Given the description of an element on the screen output the (x, y) to click on. 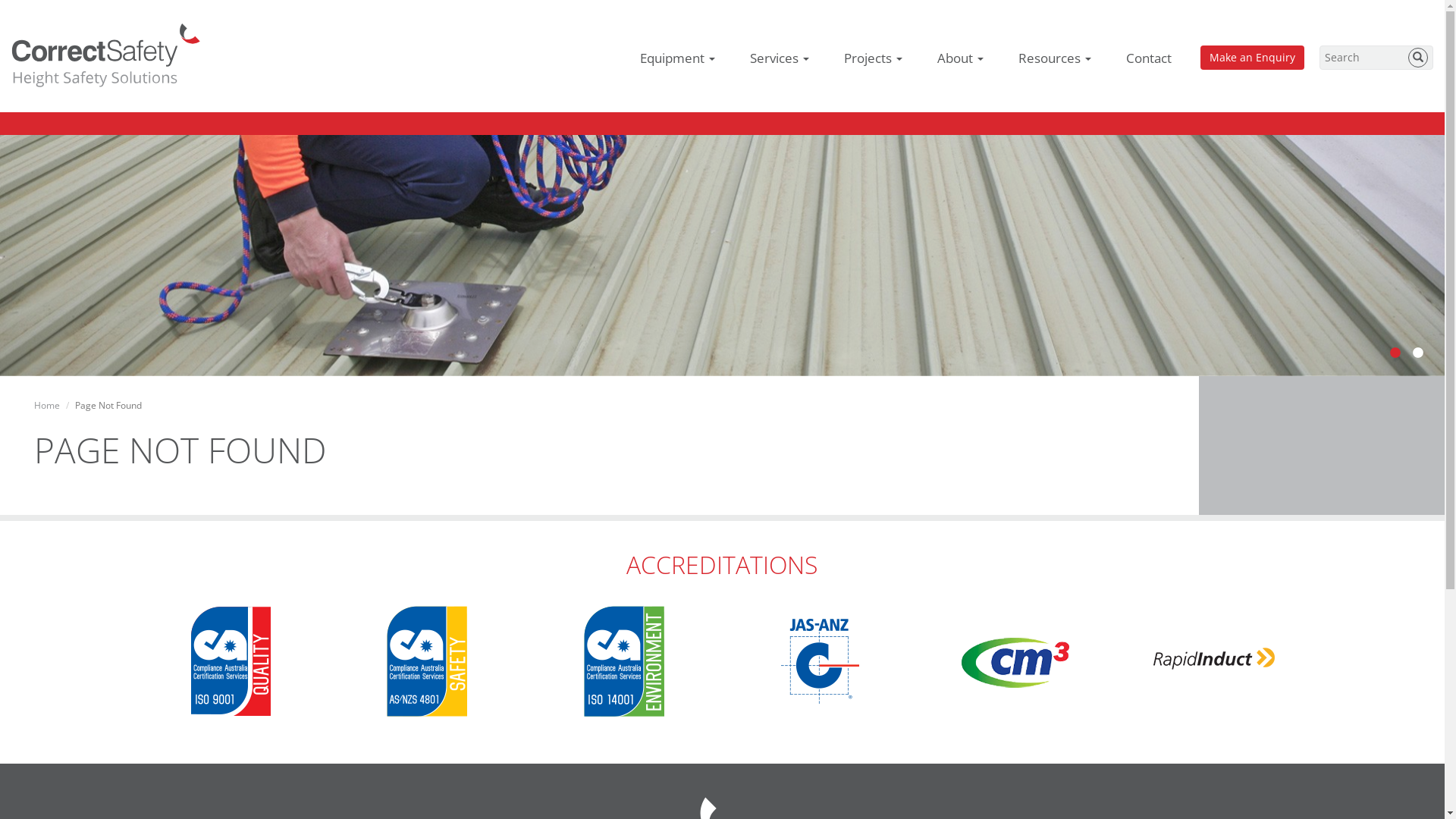
Contact Element type: text (1148, 58)
Resources Element type: text (1054, 58)
Projects Element type: text (872, 58)
1 Element type: text (1394, 352)
2 Element type: text (1417, 352)
Equipment Element type: text (677, 58)
Make an Enquiry Element type: text (1252, 57)
Services Element type: text (779, 58)
About Element type: text (960, 58)
Home Element type: text (46, 404)
